Given the description of an element on the screen output the (x, y) to click on. 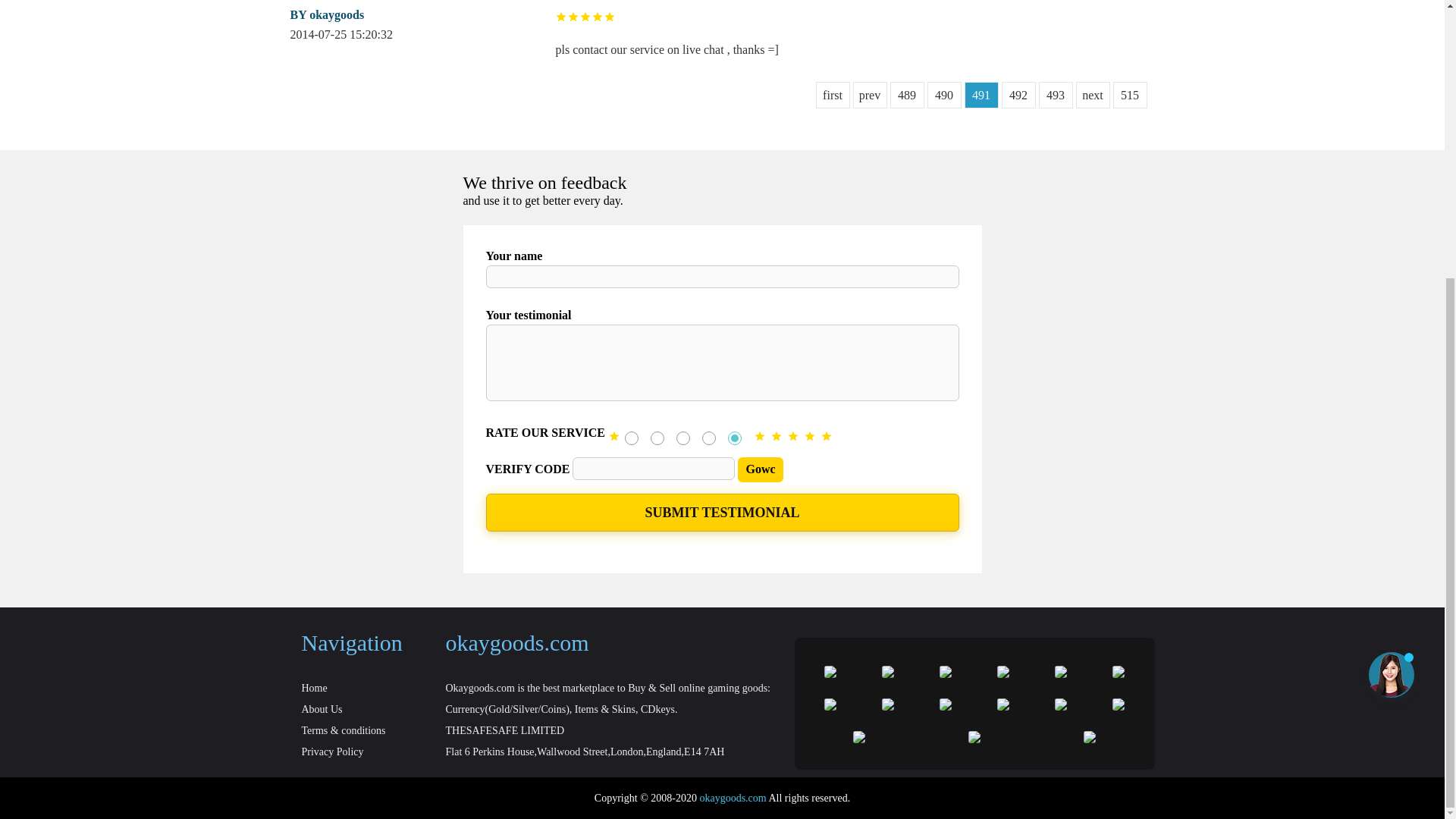
2 (656, 438)
1 (631, 438)
4 (708, 438)
5 (734, 438)
3 (683, 438)
